Given the description of an element on the screen output the (x, y) to click on. 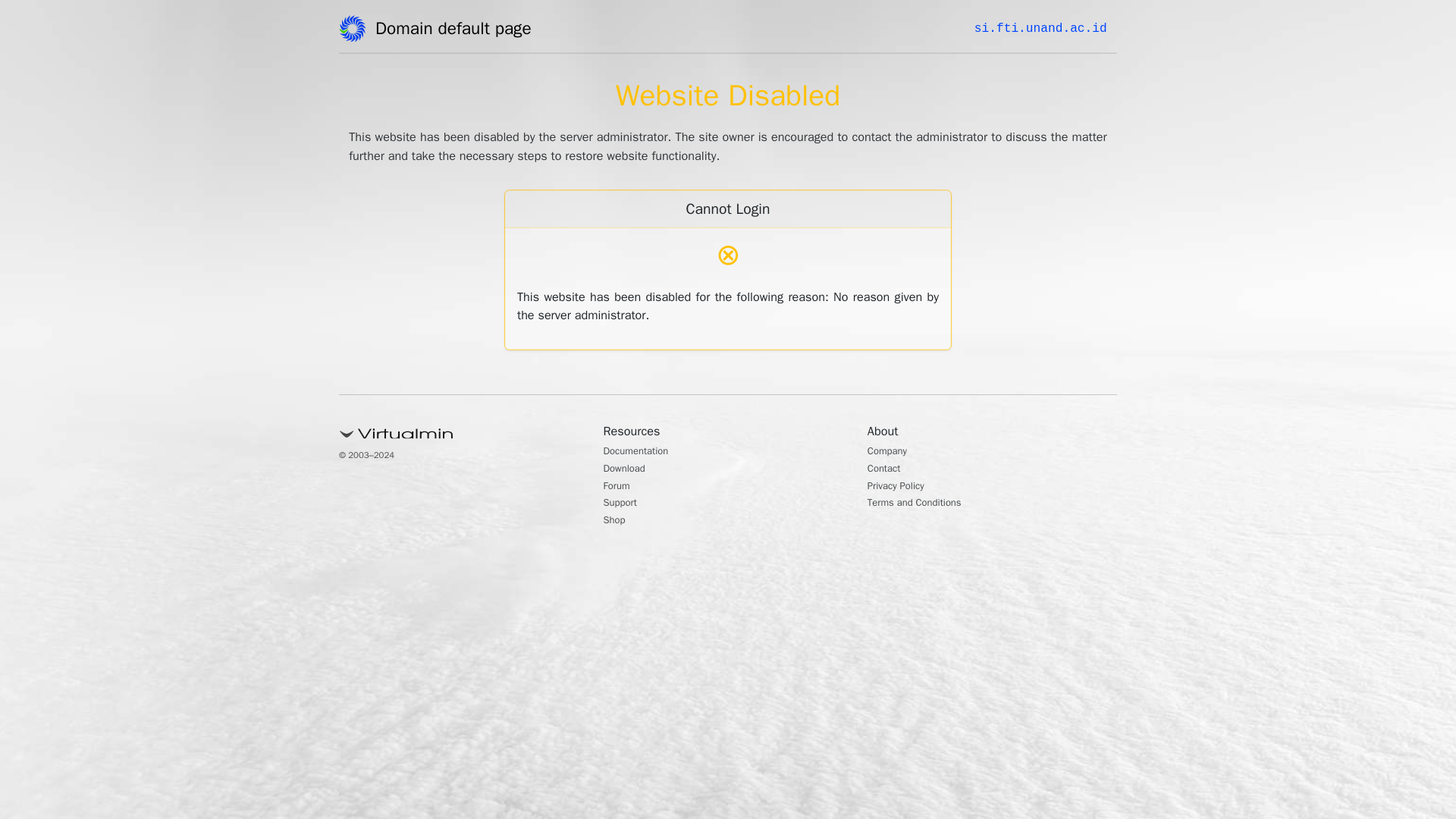
Documentation (644, 452)
Forum (620, 487)
Company (891, 452)
Privacy Policy (902, 487)
Contact (887, 469)
Support (624, 503)
Terms and Conditions (925, 503)
Domain default page (457, 31)
Download (629, 469)
Shop (617, 521)
